Given the description of an element on the screen output the (x, y) to click on. 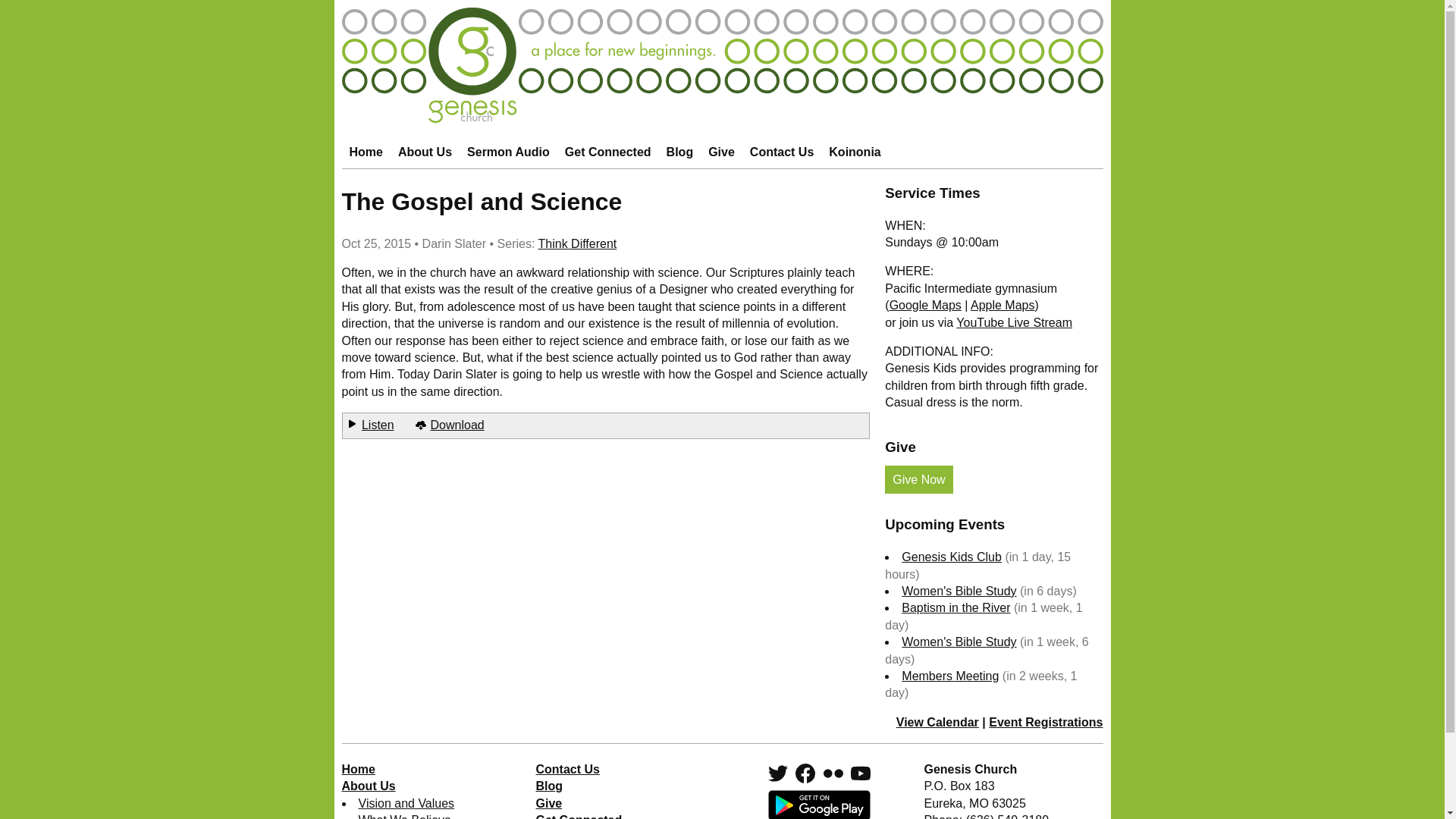
Women's Bible Study (958, 641)
Vision and Values (406, 802)
Baptism in the River (955, 607)
Sermon Audio (508, 152)
Give (721, 152)
Genesis Church - A Place for New Beginnings (721, 119)
Google Maps (924, 305)
Sermon Audio (508, 152)
Contact Us (781, 152)
Koinonia (854, 152)
About Us (424, 152)
Genesis Church homepage (721, 119)
Home (365, 152)
About Us (424, 152)
Give (721, 152)
